Given the description of an element on the screen output the (x, y) to click on. 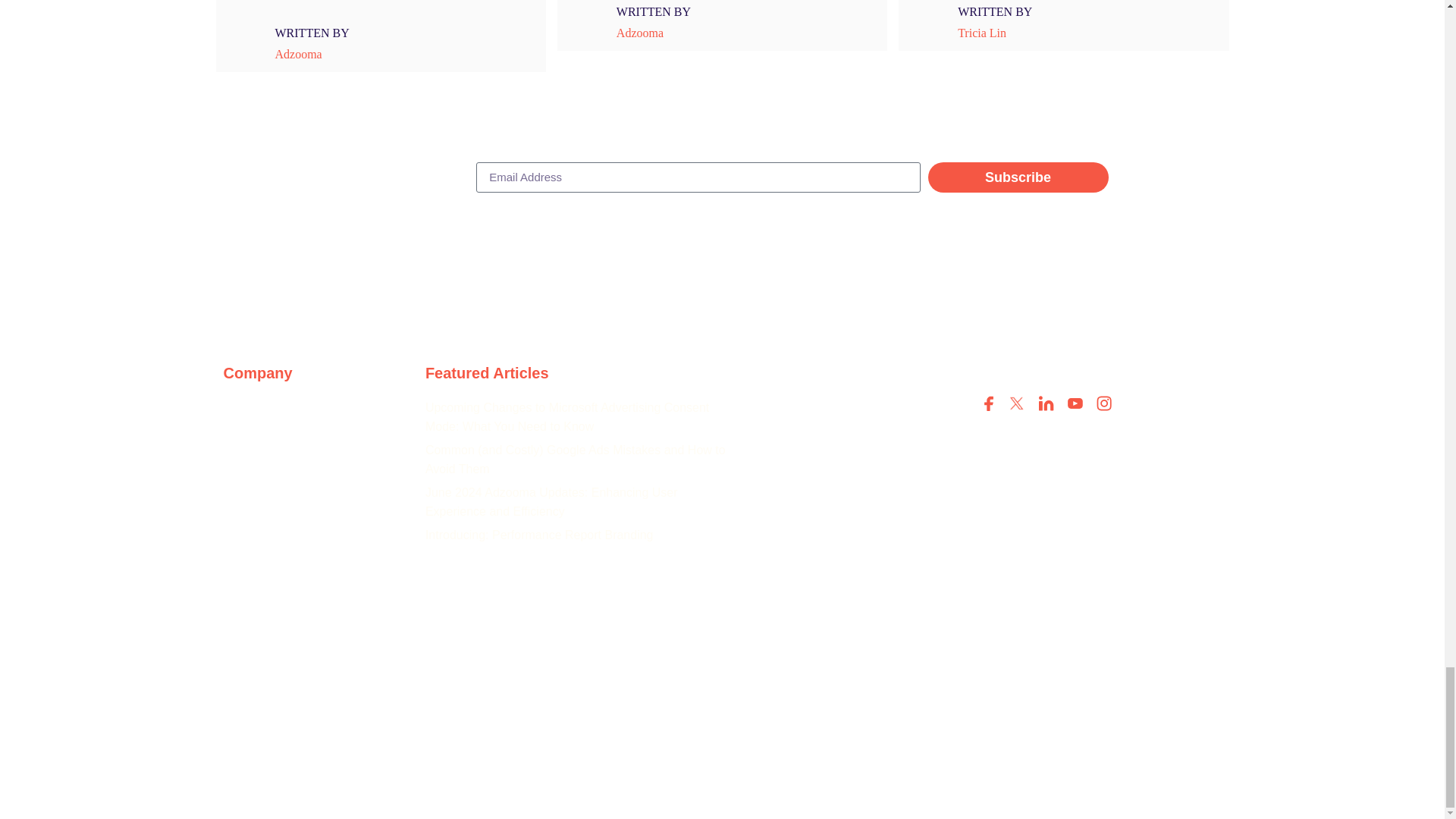
Adzooma (299, 53)
Subscribe (1018, 177)
Adzooma (640, 32)
The Marketing World (315, 411)
Tricia Lin (983, 32)
News (315, 446)
